Given the description of an element on the screen output the (x, y) to click on. 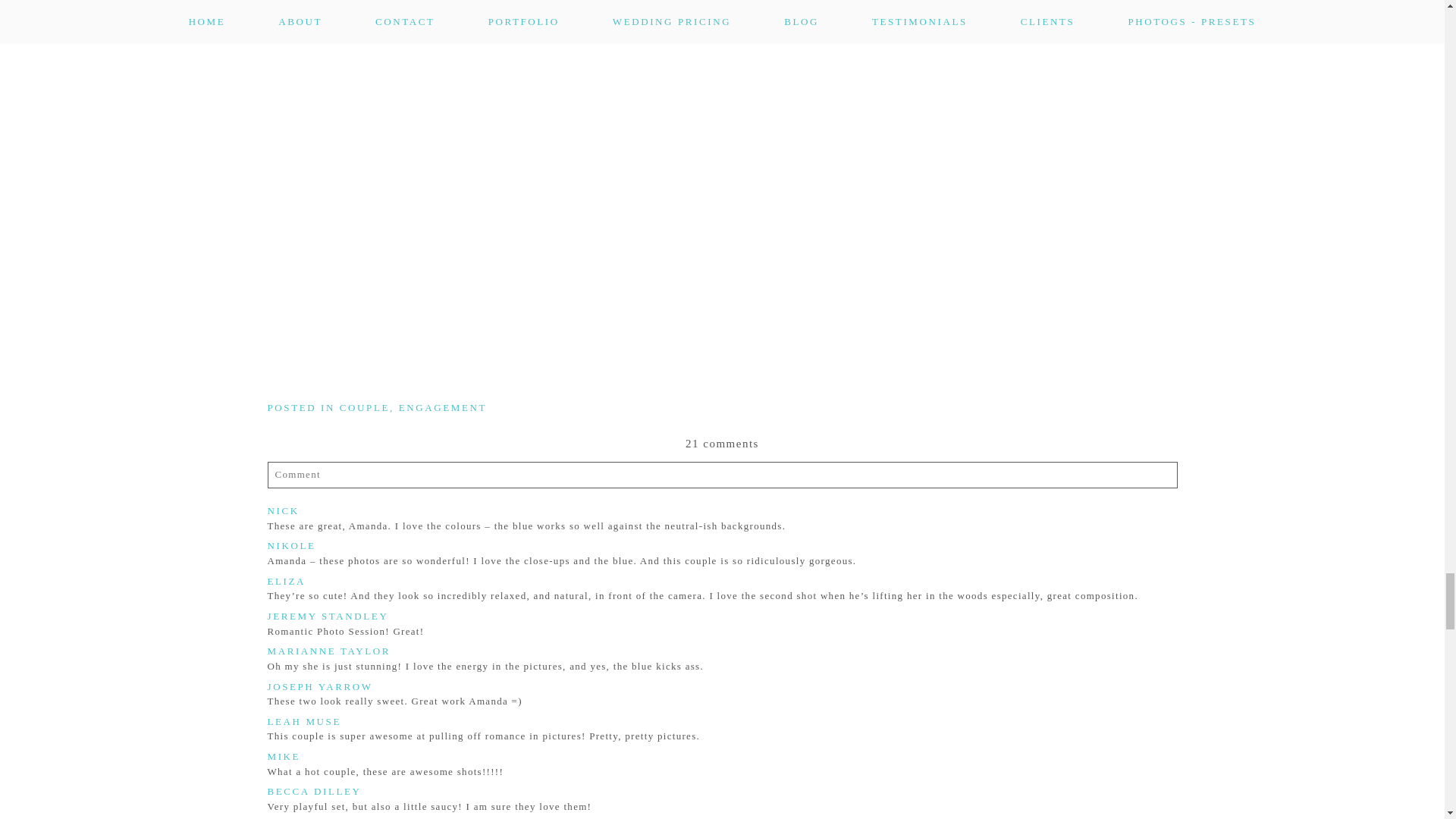
MIKE (282, 756)
JEREMY STANDLEY (327, 615)
ENGAGEMENT (442, 407)
NIKOLE (290, 545)
LEAH MUSE (303, 721)
MARIANNE TAYLOR (328, 650)
ELIZA (285, 581)
JOSEPH YARROW (319, 686)
COUPLE (364, 407)
NICK (282, 510)
